Given the description of an element on the screen output the (x, y) to click on. 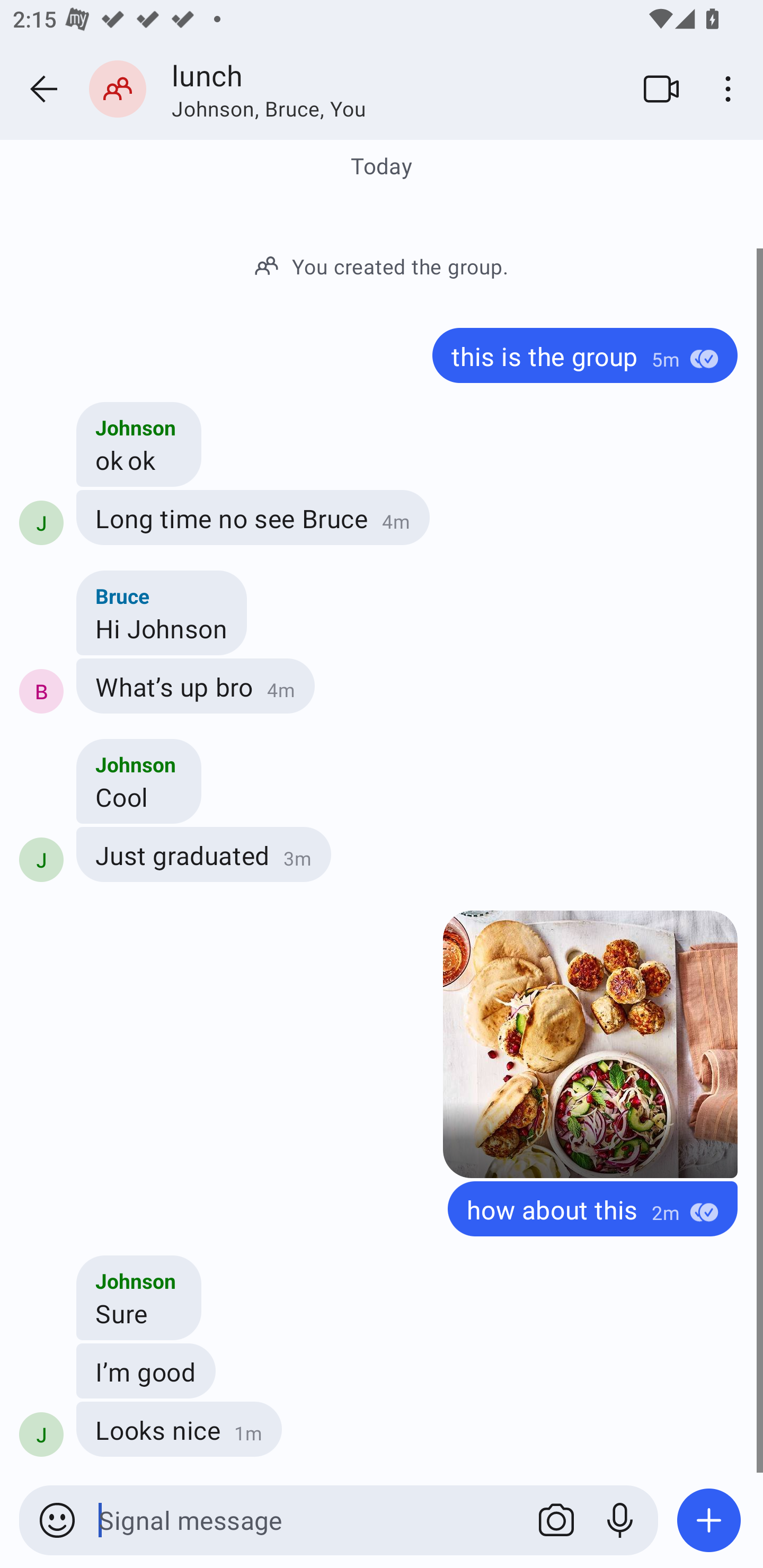
Add attachment (708, 1520)
